Given the description of an element on the screen output the (x, y) to click on. 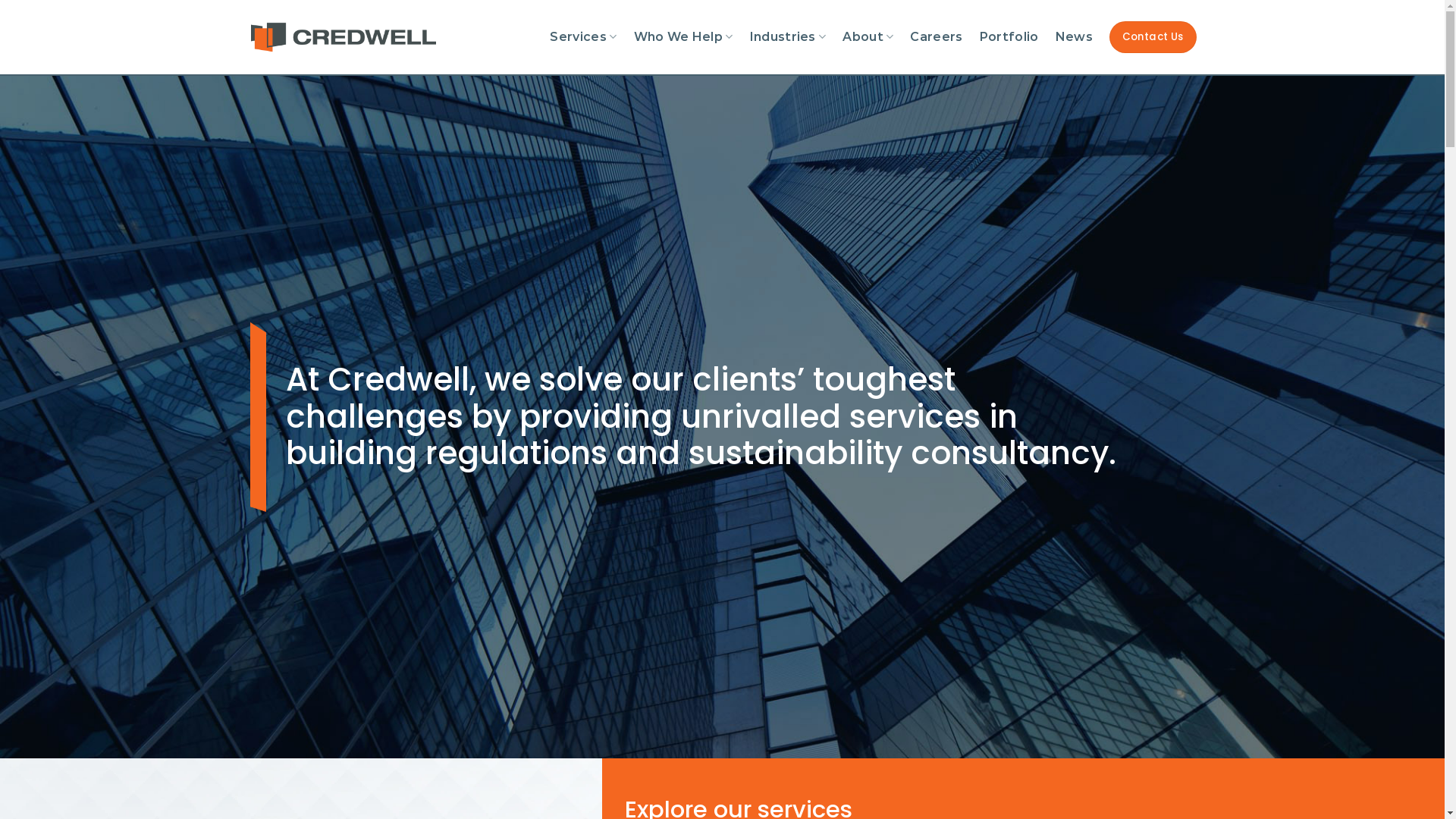
Services Element type: text (582, 36)
Portfolio Element type: text (1008, 36)
Who We Help Element type: text (683, 36)
Skip to content Element type: text (0, 0)
About Element type: text (867, 36)
News Element type: text (1073, 36)
Contact Us Element type: text (1152, 37)
Careers Element type: text (936, 36)
Credwell Element type: hover (343, 37)
Industries Element type: text (787, 36)
